Given the description of an element on the screen output the (x, y) to click on. 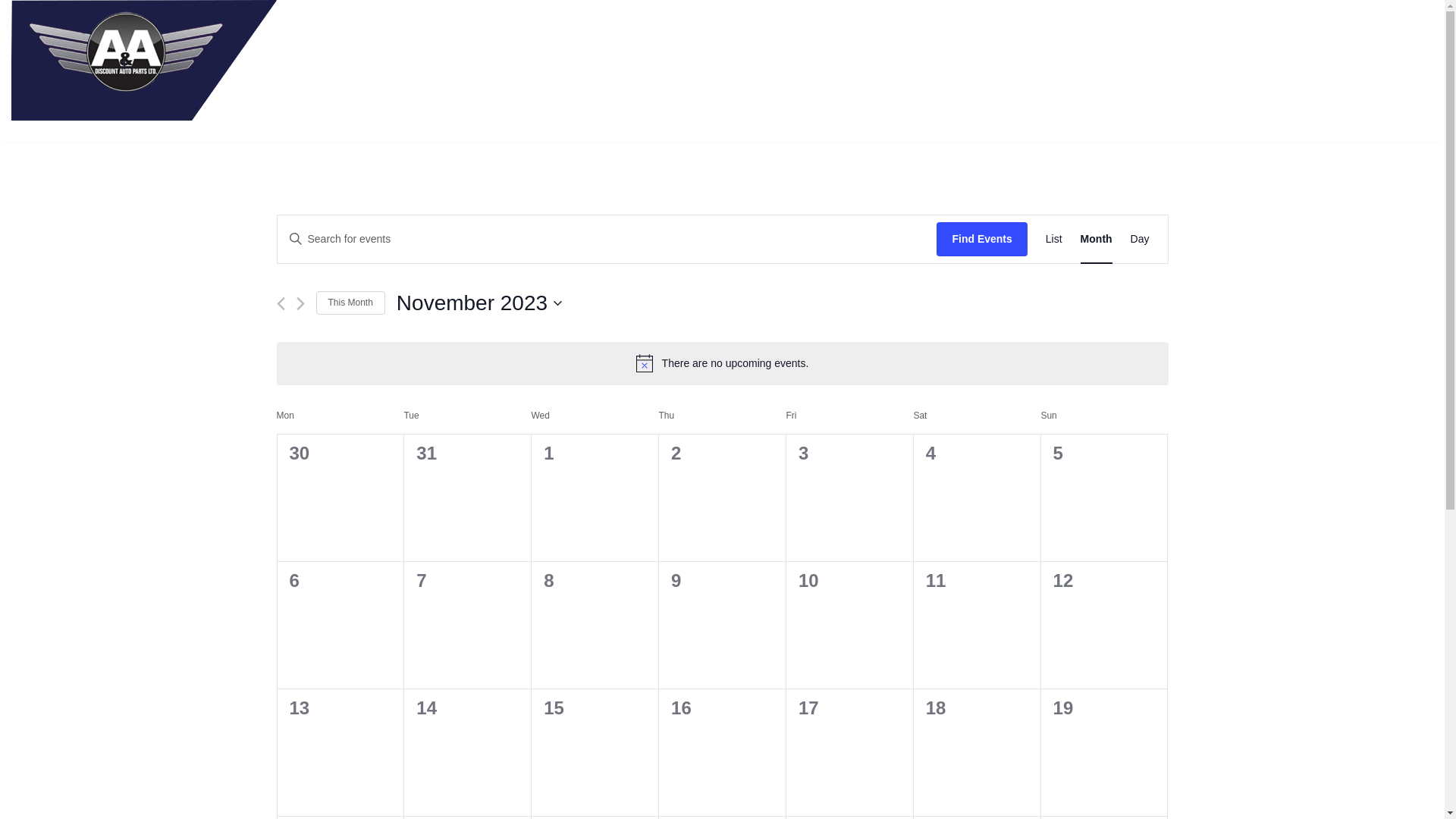
HOME Element type: text (1416, 67)
This Month Element type: text (349, 302)
Month Element type: text (1096, 239)
Previous month Element type: hover (280, 303)
Next month Element type: hover (299, 303)
Find Events Element type: text (981, 239)
List Element type: text (1053, 239)
Skip to content Element type: text (11, 31)
Day Element type: text (1139, 239)
November 2023 Element type: text (478, 303)
A&A Discount Auto Parts Element type: hover (143, 60)
